Given the description of an element on the screen output the (x, y) to click on. 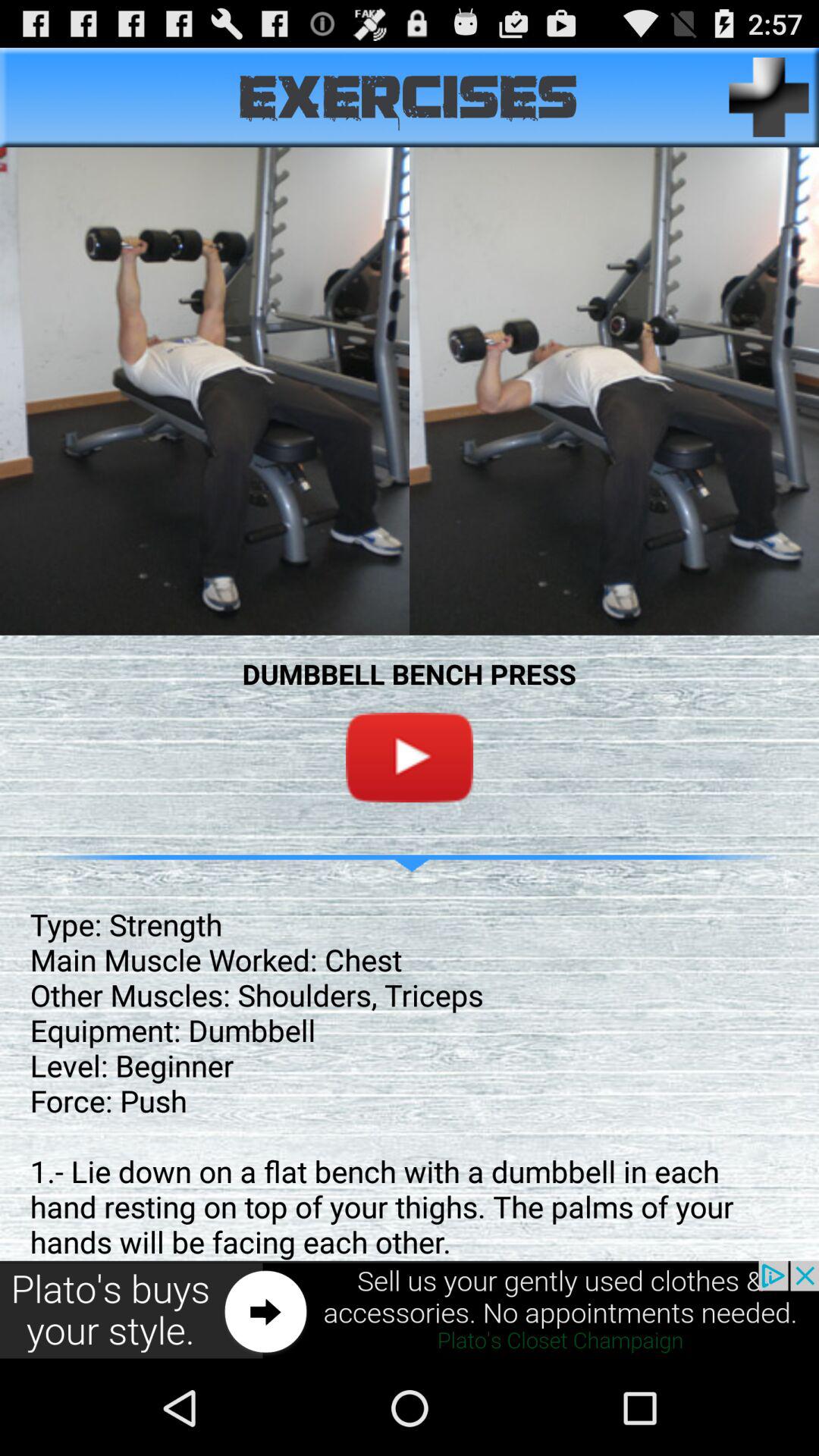
play on youtube (409, 757)
